Given the description of an element on the screen output the (x, y) to click on. 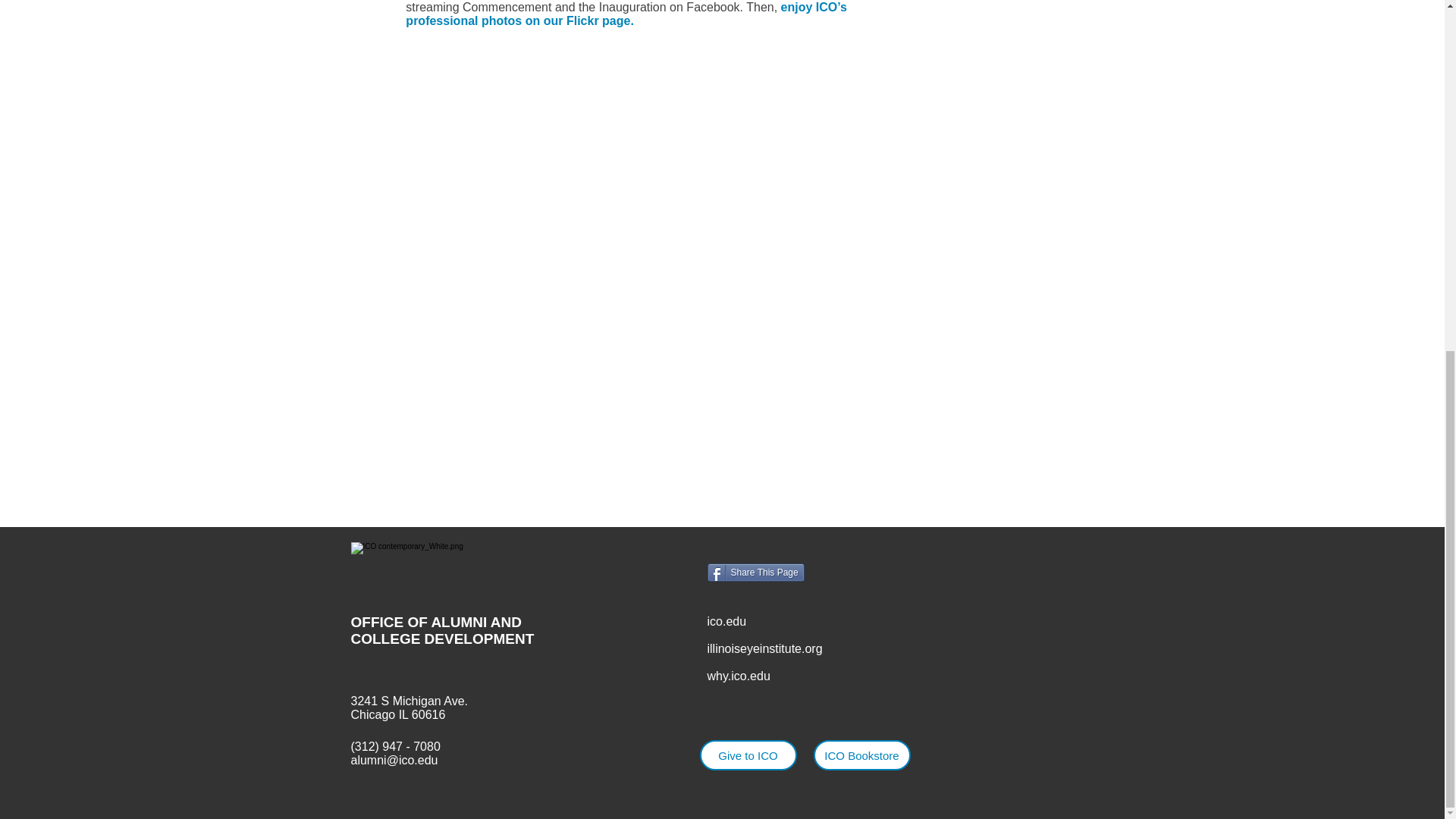
ICO Bookstore (861, 755)
Share This Page (754, 572)
Donor-Corner-2--scroll-image-Summer-2024.jpg (1085, 57)
illinoiseyeinstitute.org (764, 648)
why.ico.edu (738, 675)
Share This Page (754, 572)
Give to ICO (747, 755)
ico.edu (725, 621)
